Given the description of an element on the screen output the (x, y) to click on. 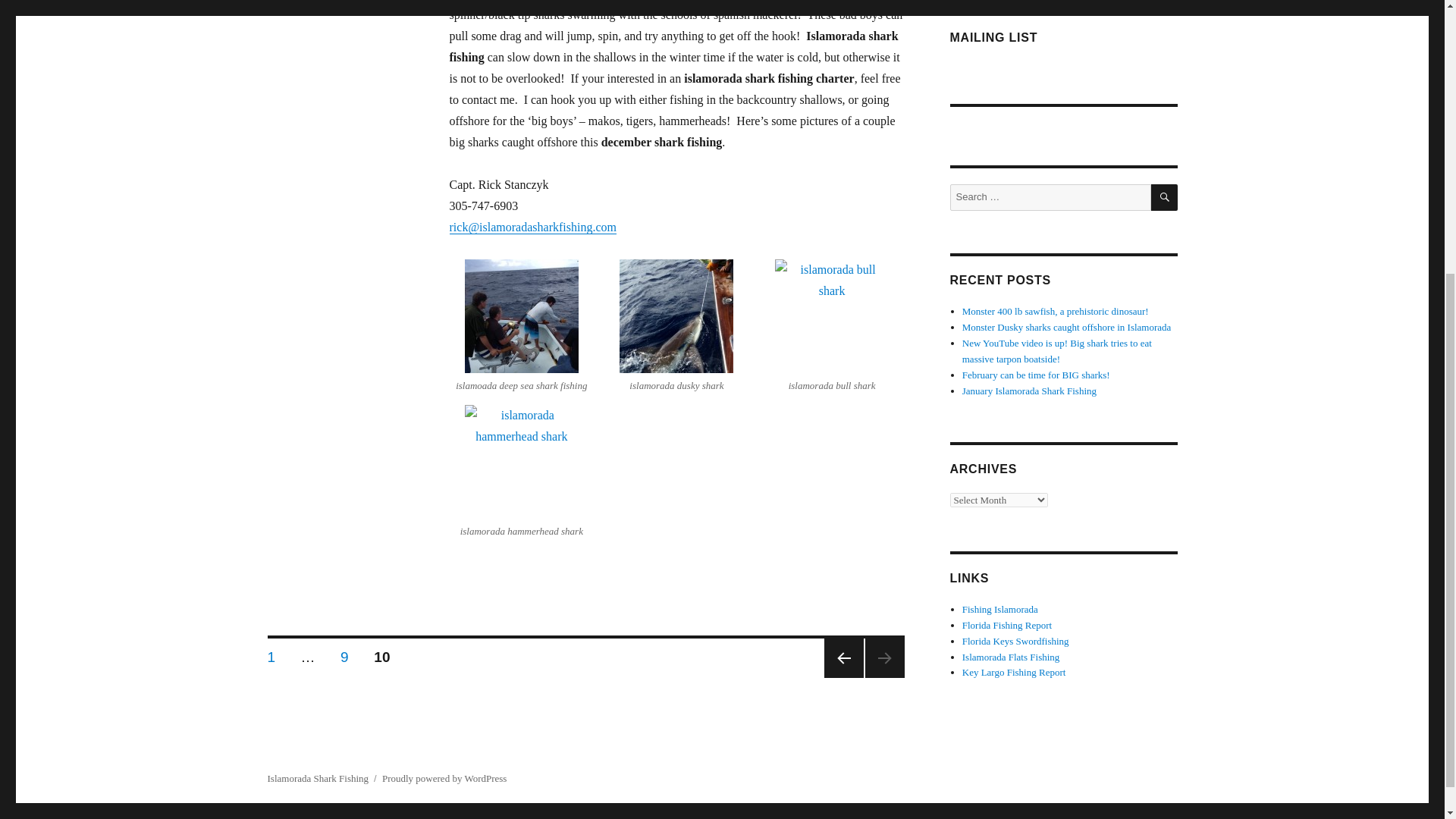
Monster Dusky sharks caught offshore in Islamorada (1067, 326)
Islamorada Flats Fishing (1010, 655)
January Islamorada Shark Fishing (271, 654)
SEARCH (1029, 390)
Daytime Swordfishing in the Florida Keys (1164, 197)
Florida Keys Swordfishing (1015, 641)
Fishing Islamorada (1015, 641)
Florida Fishing Report (1000, 609)
PREVIOUS PAGE (1006, 624)
Monster 400 lb sawfish, a prehistoric dinosaur! (843, 658)
Key Largo Fishing Report (1055, 310)
February can be time for BIG sharks! (1013, 672)
Islamorada Shark Fishing (344, 654)
